Given the description of an element on the screen output the (x, y) to click on. 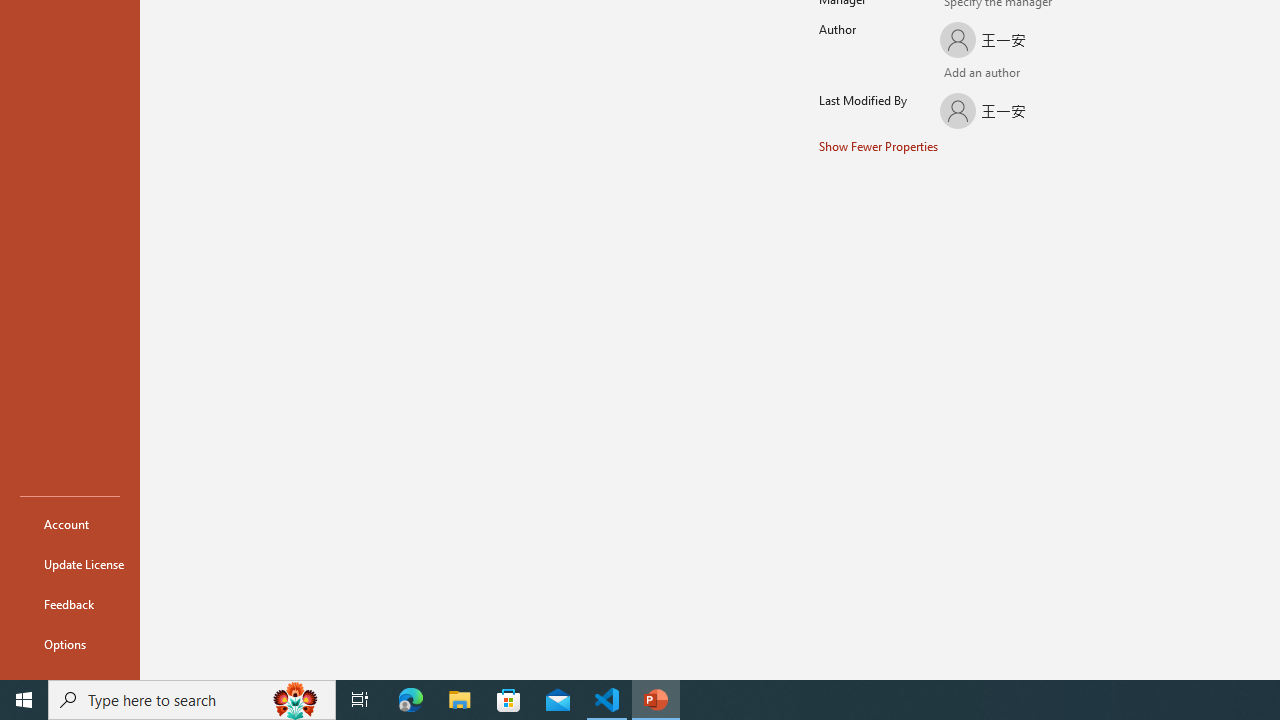
Options (69, 643)
Show Fewer Properties (879, 146)
Account (69, 523)
Browse Address Book (1047, 75)
Add an author (955, 74)
Verify Names (983, 74)
Feedback (69, 603)
Update License (69, 563)
